Given the description of an element on the screen output the (x, y) to click on. 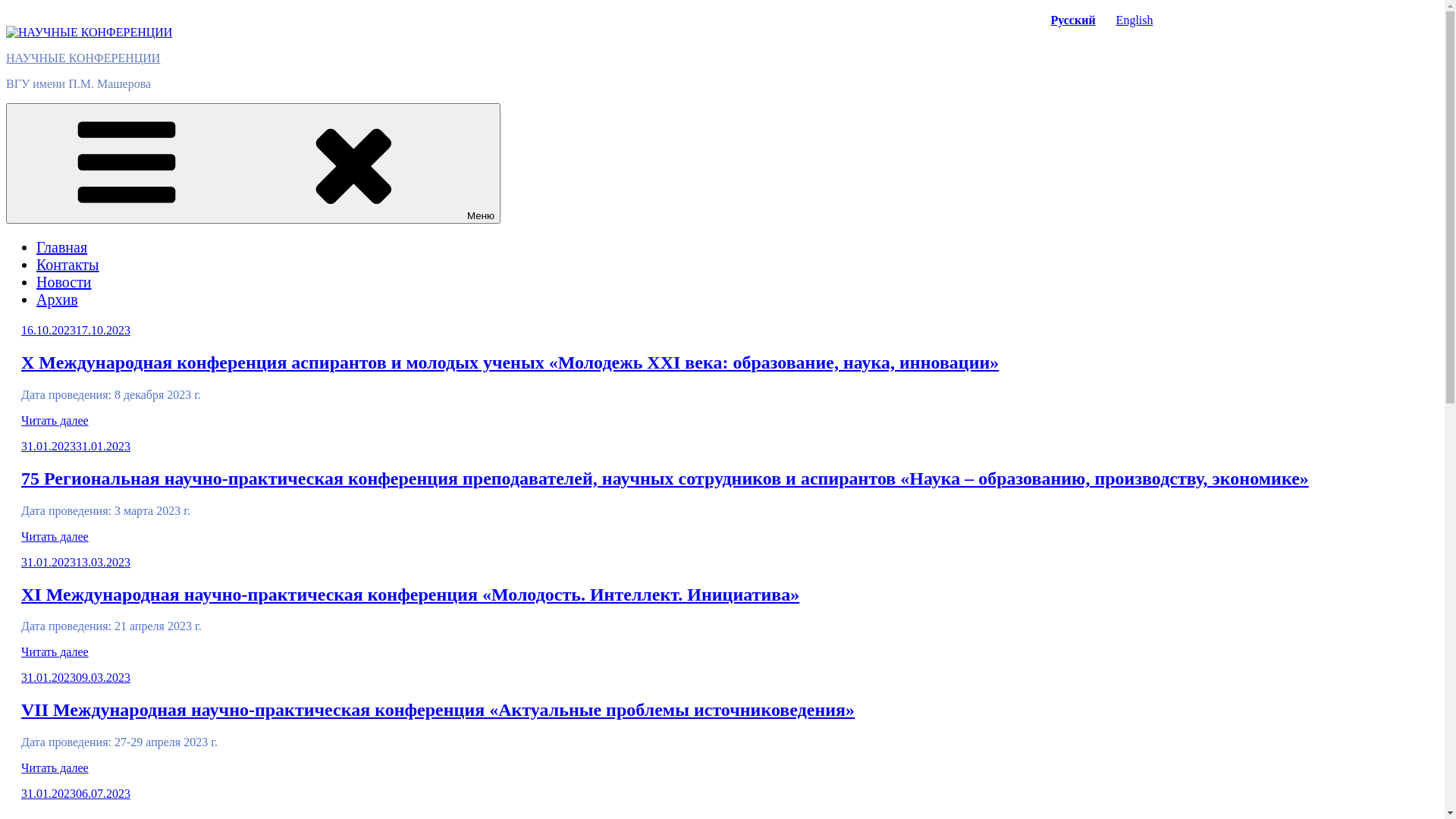
English Element type: text (1134, 19)
31.01.202331.01.2023 Element type: text (75, 445)
31.01.202309.03.2023 Element type: text (75, 677)
31.01.202313.03.2023 Element type: text (75, 561)
31.01.202306.07.2023 Element type: text (75, 793)
16.10.202317.10.2023 Element type: text (75, 329)
